Given the description of an element on the screen output the (x, y) to click on. 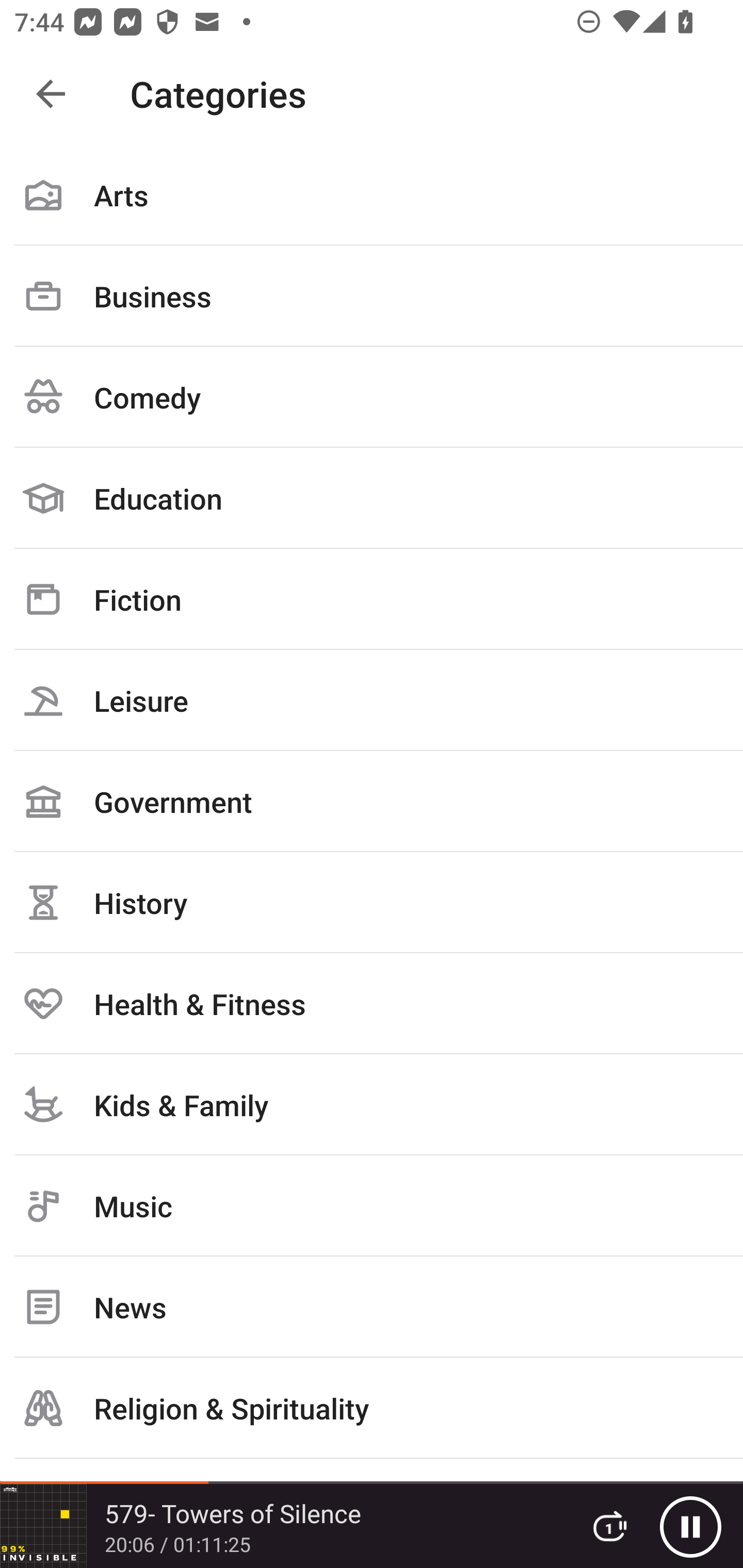
Navigate up (50, 93)
Arts (371, 195)
Business (371, 296)
Comedy (371, 397)
Education (371, 498)
Fiction (371, 598)
Leisure (371, 700)
Government (371, 801)
History (371, 902)
Health & Fitness (371, 1003)
Kids & Family (371, 1104)
Music (371, 1205)
News (371, 1306)
Religion & Spirituality (371, 1407)
579- Towers of Silence 20:06 / 01:11:25 (283, 1525)
Pause (690, 1526)
